Given the description of an element on the screen output the (x, y) to click on. 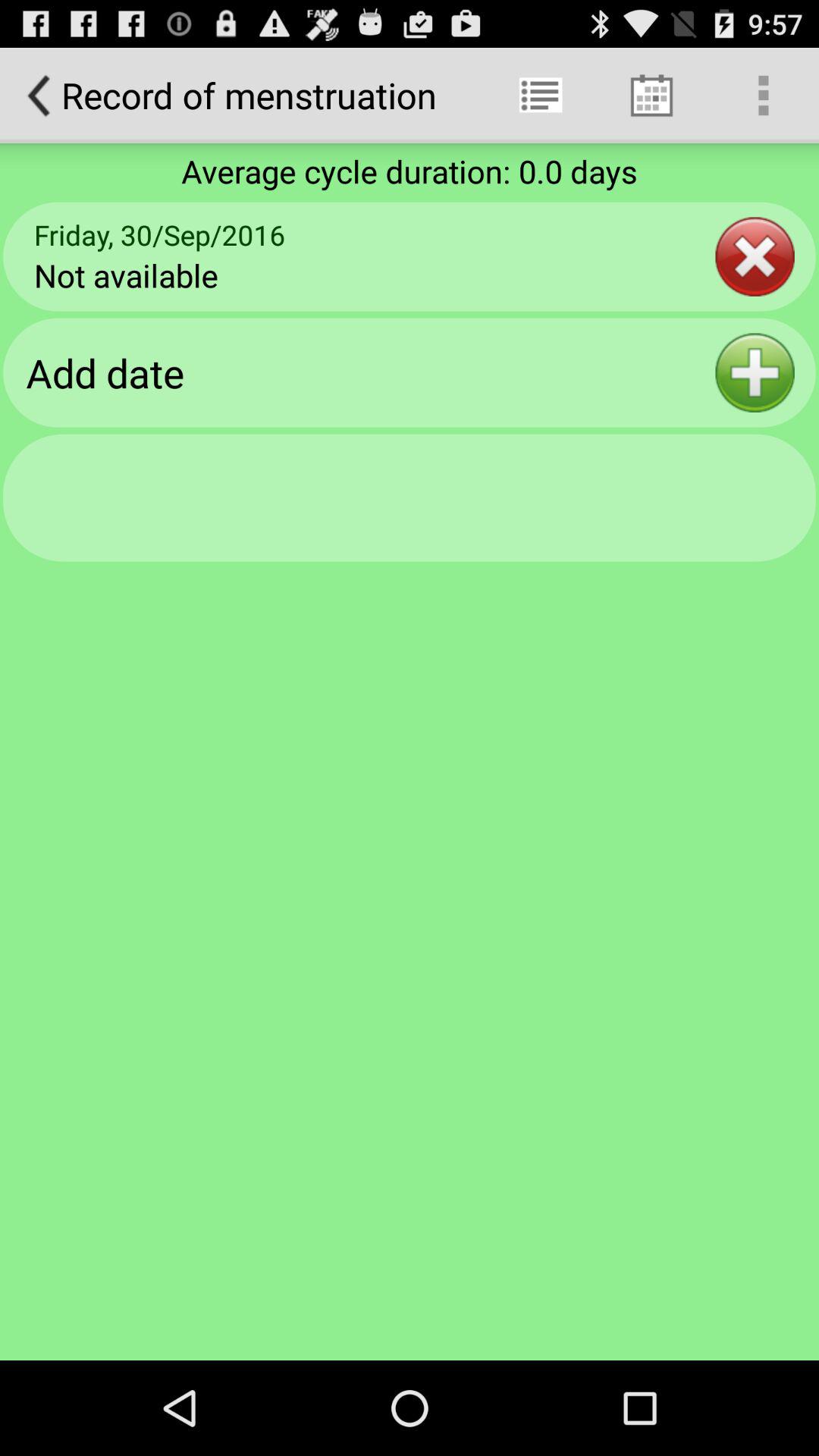
tap the app next to record of menstruation app (540, 95)
